Given the description of an element on the screen output the (x, y) to click on. 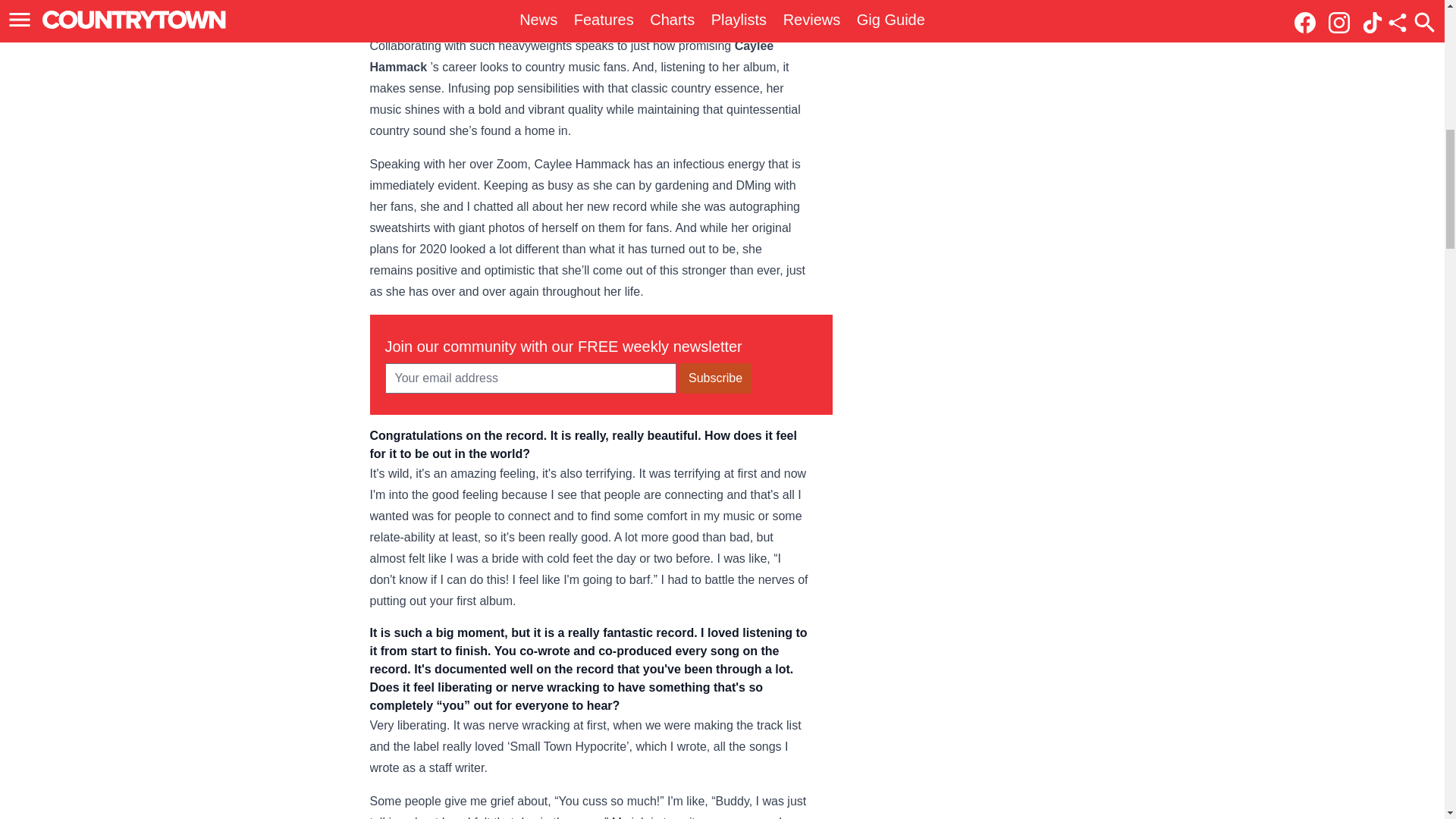
Subscribe (715, 378)
